Given the description of an element on the screen output the (x, y) to click on. 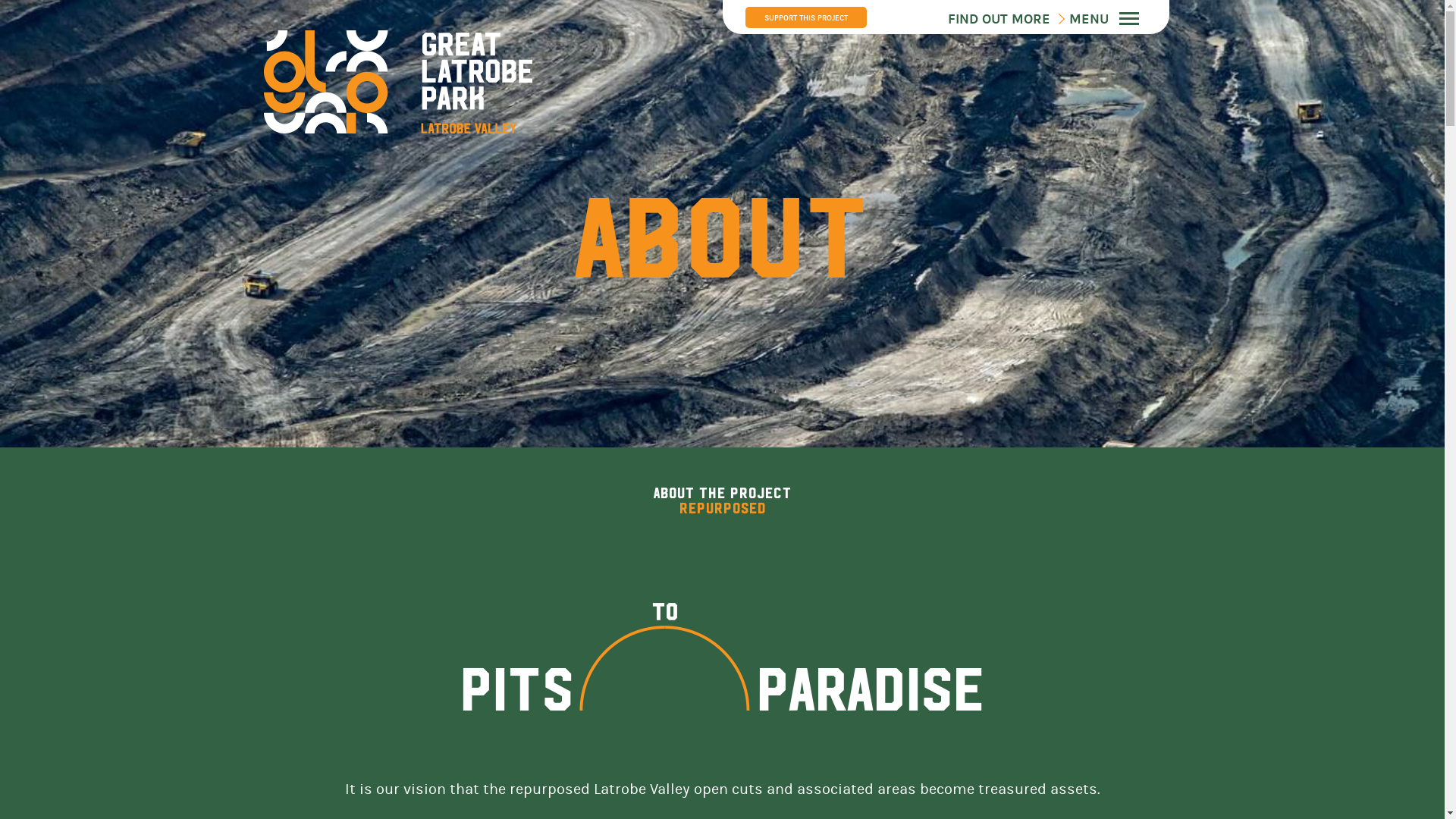
SUPPORT THIS PROJECT Element type: text (805, 17)
